Given the description of an element on the screen output the (x, y) to click on. 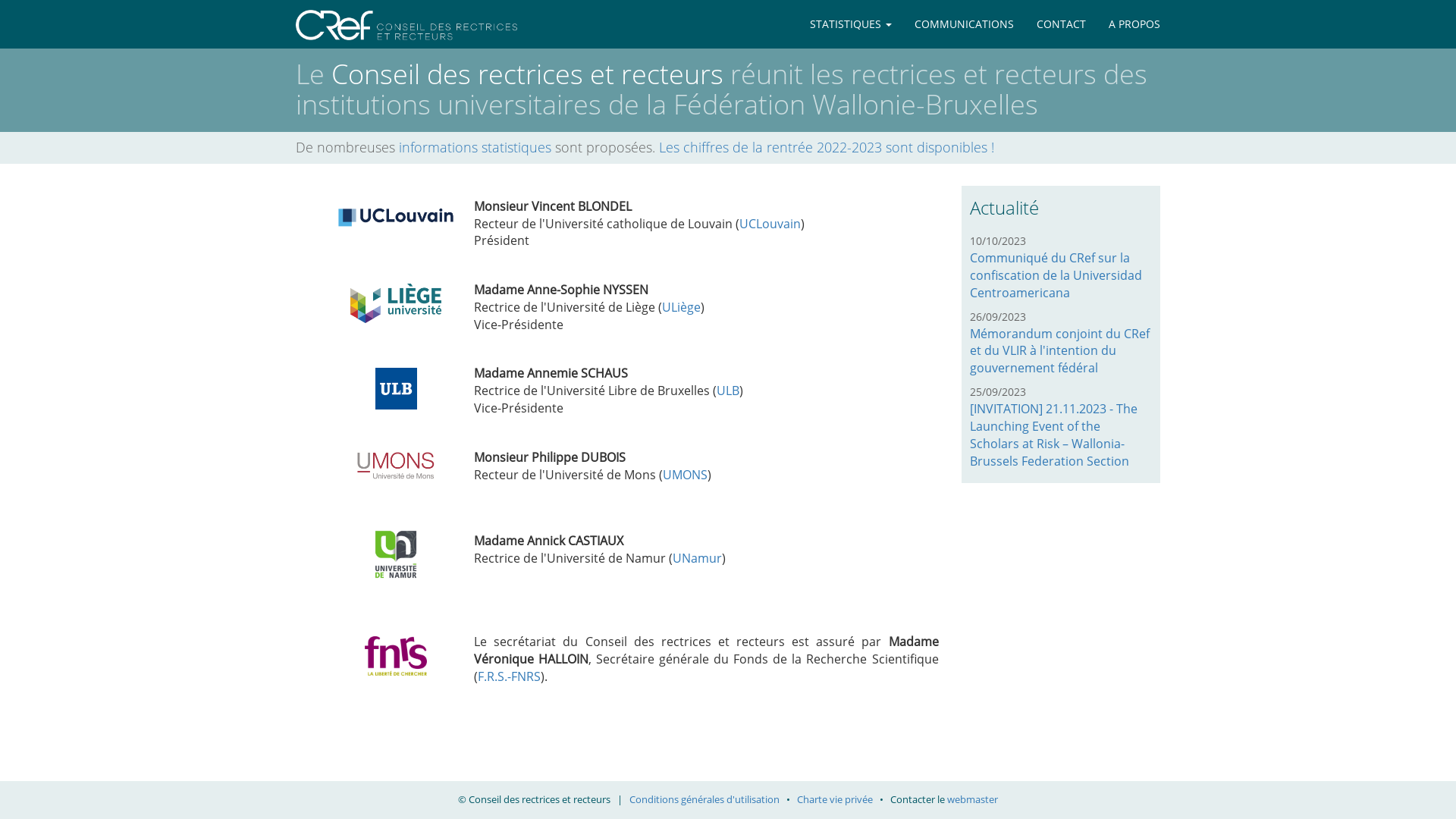
STATISTIQUES Element type: text (850, 24)
webmaster Element type: text (972, 799)
UNamur Element type: text (696, 557)
CONTACT Element type: text (1061, 24)
UMONS Element type: text (684, 474)
F.R.S.-FNRS Element type: text (508, 676)
COMMUNICATIONS Element type: text (964, 24)
ULB Element type: text (727, 390)
UCLouvain Element type: text (769, 223)
A PROPOS Element type: text (1134, 24)
informations statistiques Element type: text (474, 147)
